Given the description of an element on the screen output the (x, y) to click on. 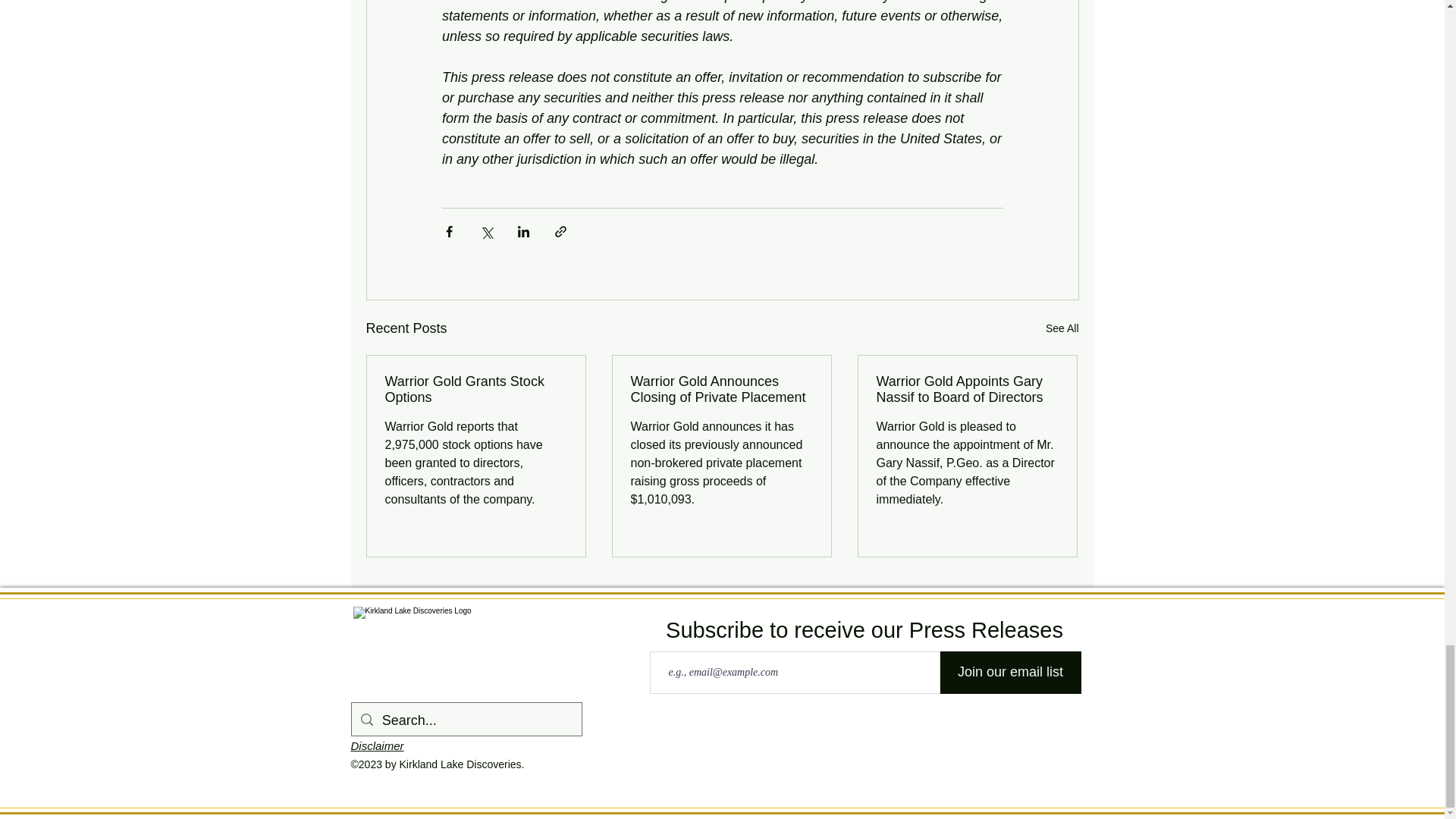
Disclaimer (376, 745)
Warrior Gold Appoints Gary Nassif to Board of Directors (967, 389)
KLDAsset 10export.png (501, 654)
Warrior Gold Grants Stock Options (476, 389)
Warrior Gold Announces Closing of Private Placement (721, 389)
Join our email list (1010, 672)
See All (1061, 328)
